Given the description of an element on the screen output the (x, y) to click on. 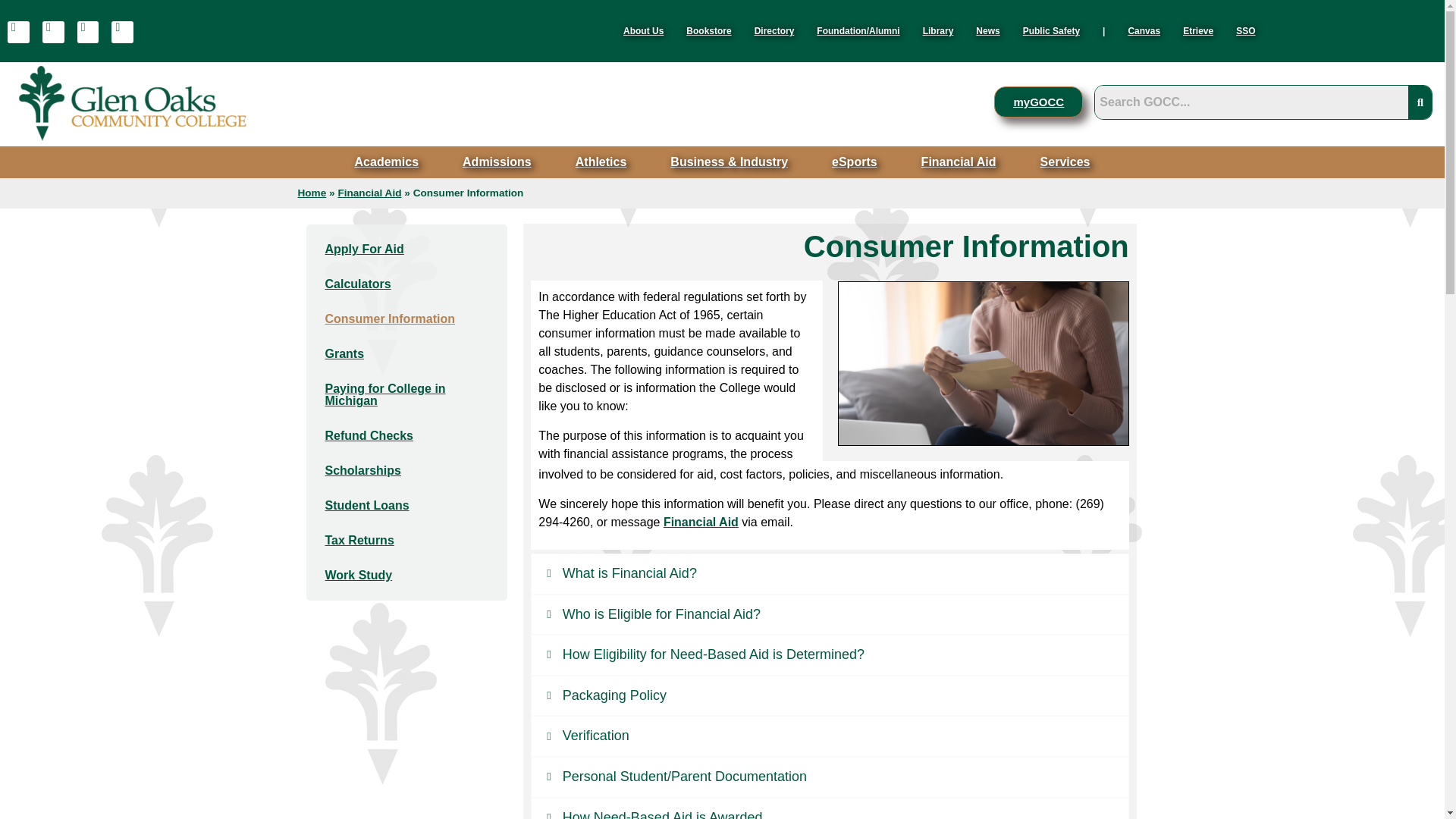
Financial Aid (958, 161)
Library (938, 30)
Athletics (601, 161)
Etrieve (1198, 30)
Admissions (497, 161)
eSports (854, 161)
Canvas (1144, 30)
About Us (643, 30)
Public Safety (1050, 30)
myGOCC (1038, 101)
